Given the description of an element on the screen output the (x, y) to click on. 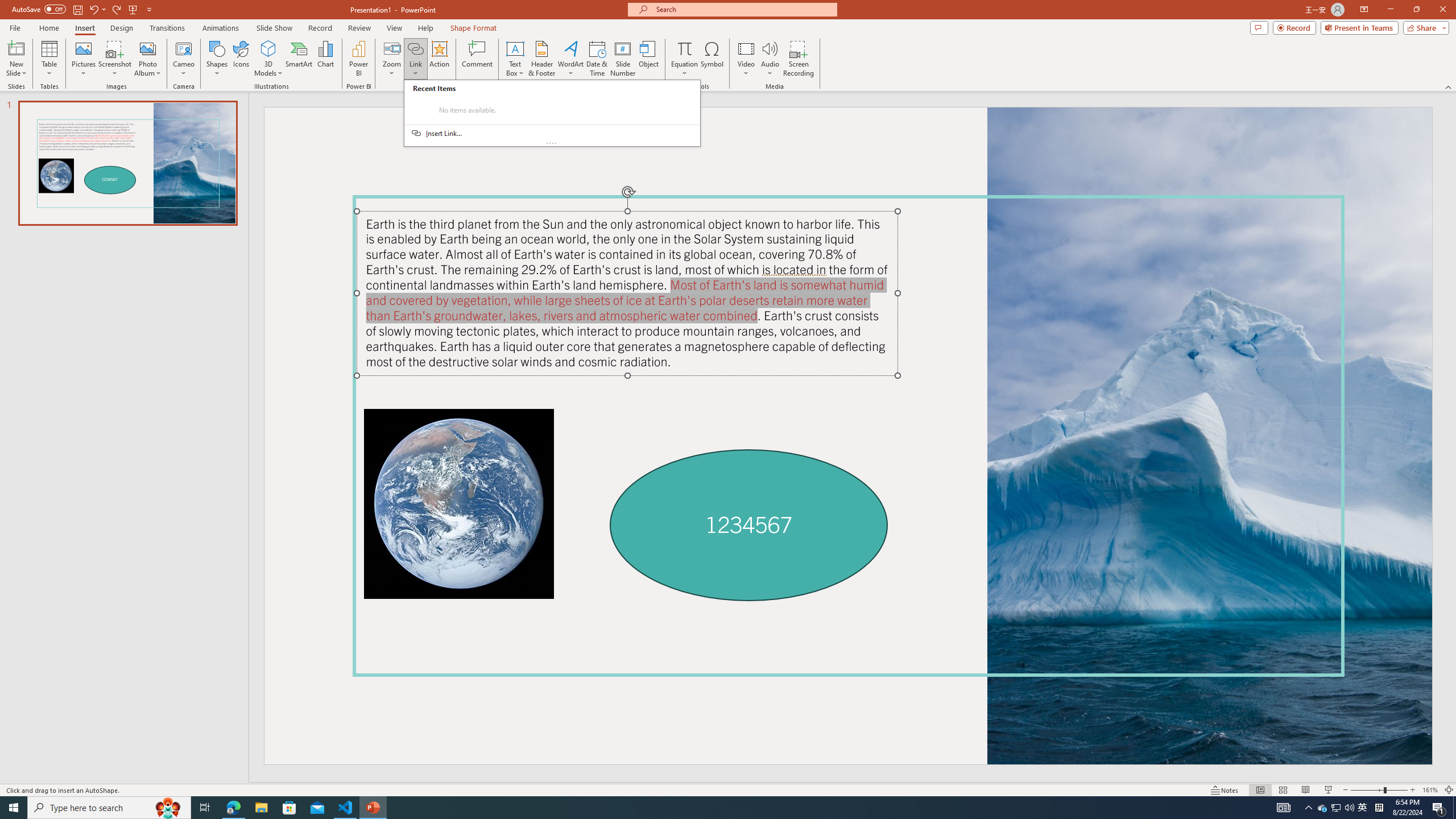
Screenshot (114, 58)
Power BI (358, 58)
Link (415, 58)
Icons (240, 58)
